Given the description of an element on the screen output the (x, y) to click on. 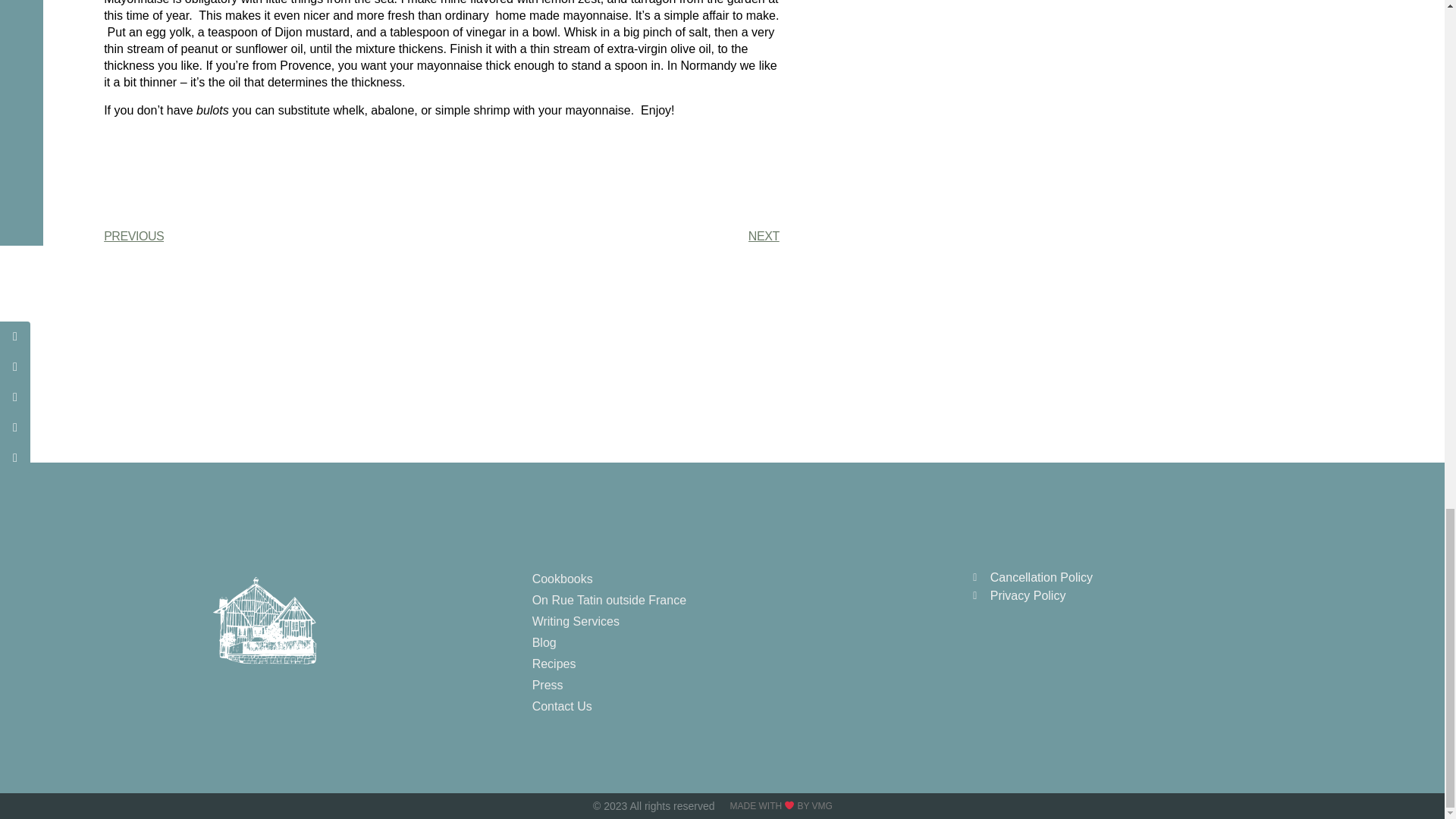
NEXT (609, 236)
PREVIOUS (272, 236)
